Given the description of an element on the screen output the (x, y) to click on. 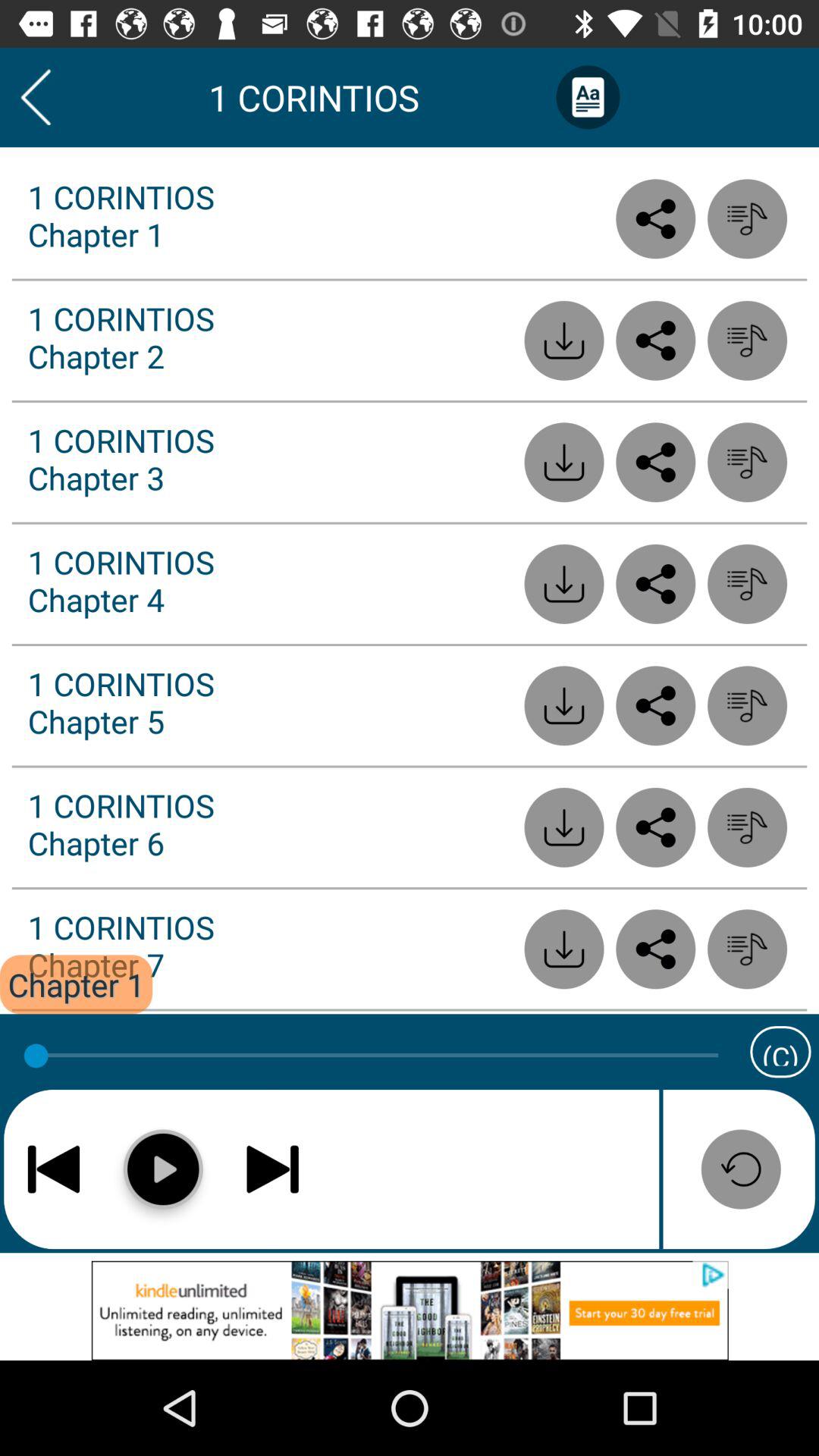
download option (564, 827)
